Given the description of an element on the screen output the (x, y) to click on. 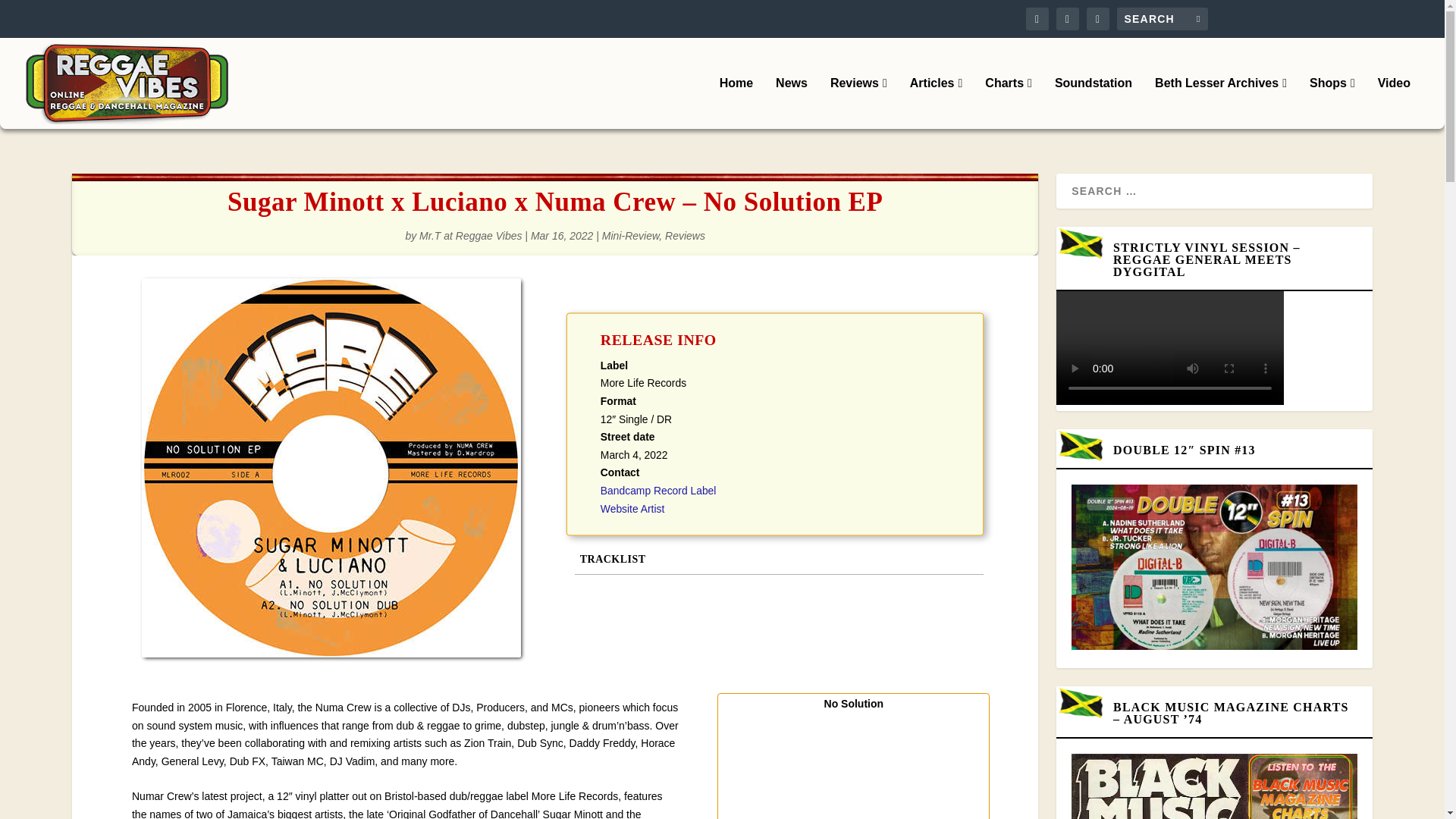
Mr.T at Reggae Vibes (470, 235)
Reviews (684, 235)
Search for: (1161, 18)
Soundstation (1093, 102)
YouTube video player (852, 766)
Website Artist (632, 508)
Reviews (857, 102)
Posts by Mr.T at Reggae Vibes (470, 235)
Charts (1008, 102)
